Given the description of an element on the screen output the (x, y) to click on. 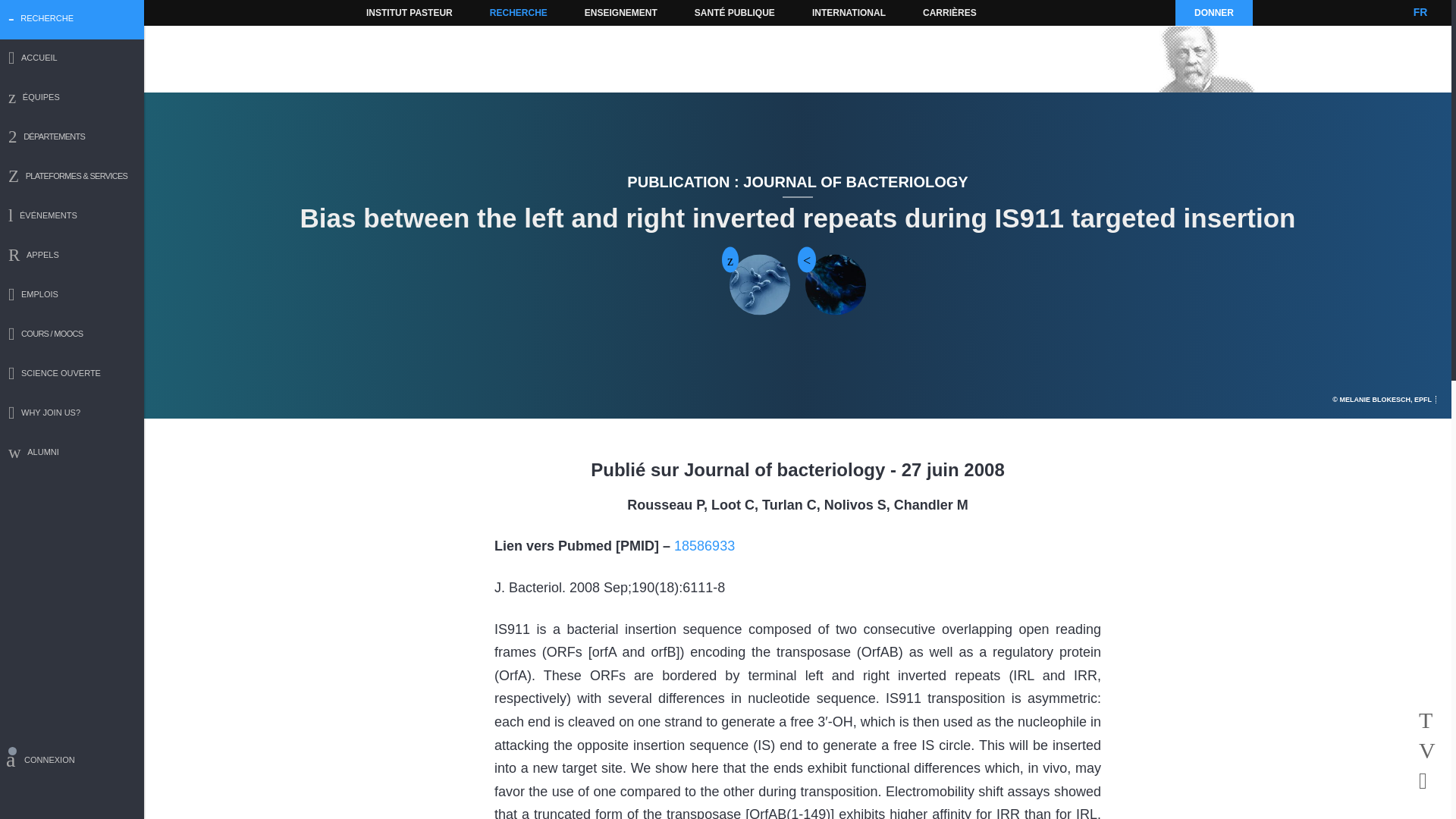
WHY JOIN US? (72, 413)
ACCUEIL (72, 59)
INSTITUT PASTEUR (409, 12)
EMPLOIS (72, 296)
ENSEIGNEMENT (620, 12)
FR (1419, 11)
18586933 (704, 545)
Aller au contenu (391, 11)
SCIENCE OUVERTE (72, 374)
APPELS (72, 256)
